Given the description of an element on the screen output the (x, y) to click on. 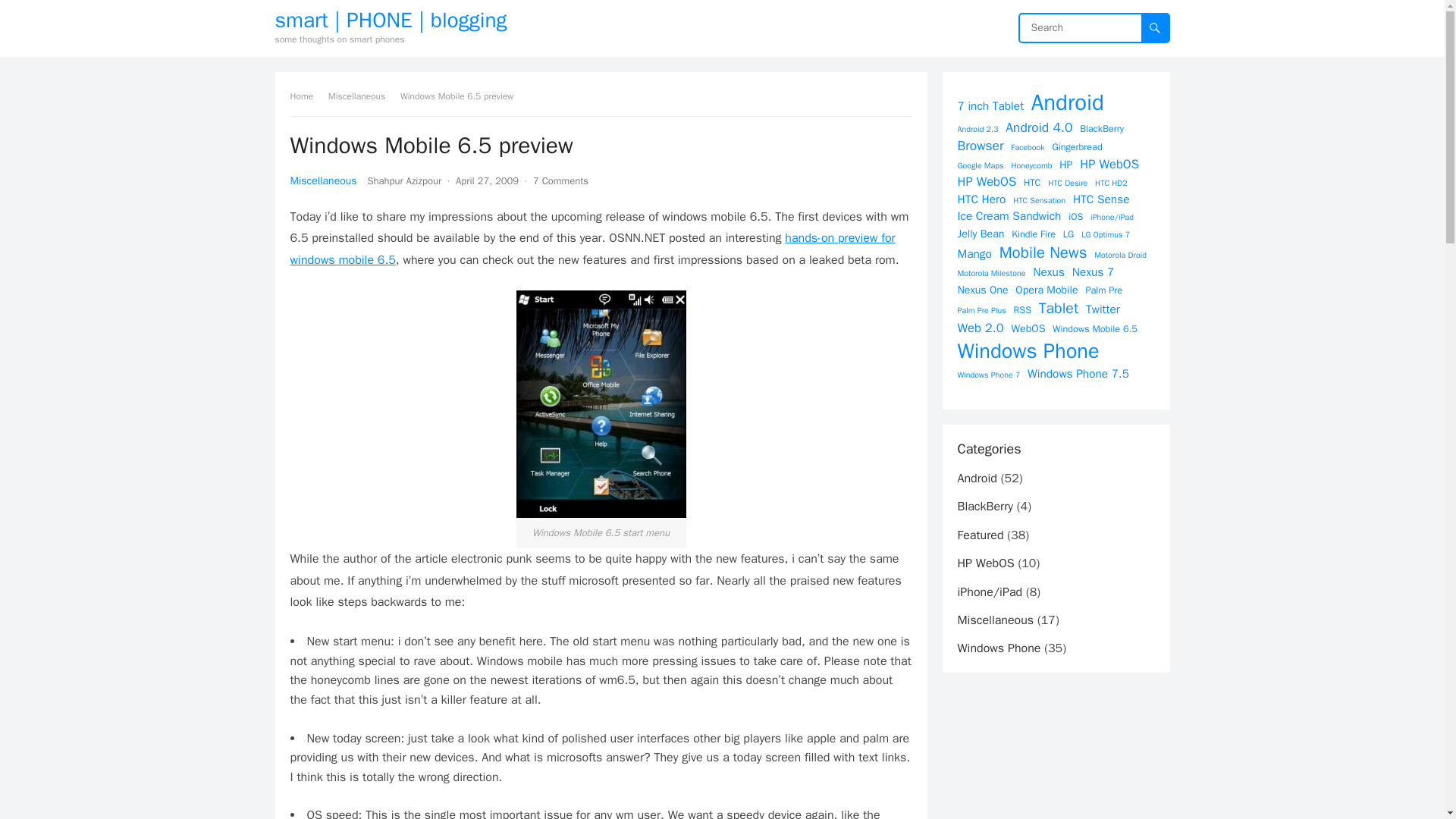
Posts by Shahpur Azizpour (403, 180)
